Given the description of an element on the screen output the (x, y) to click on. 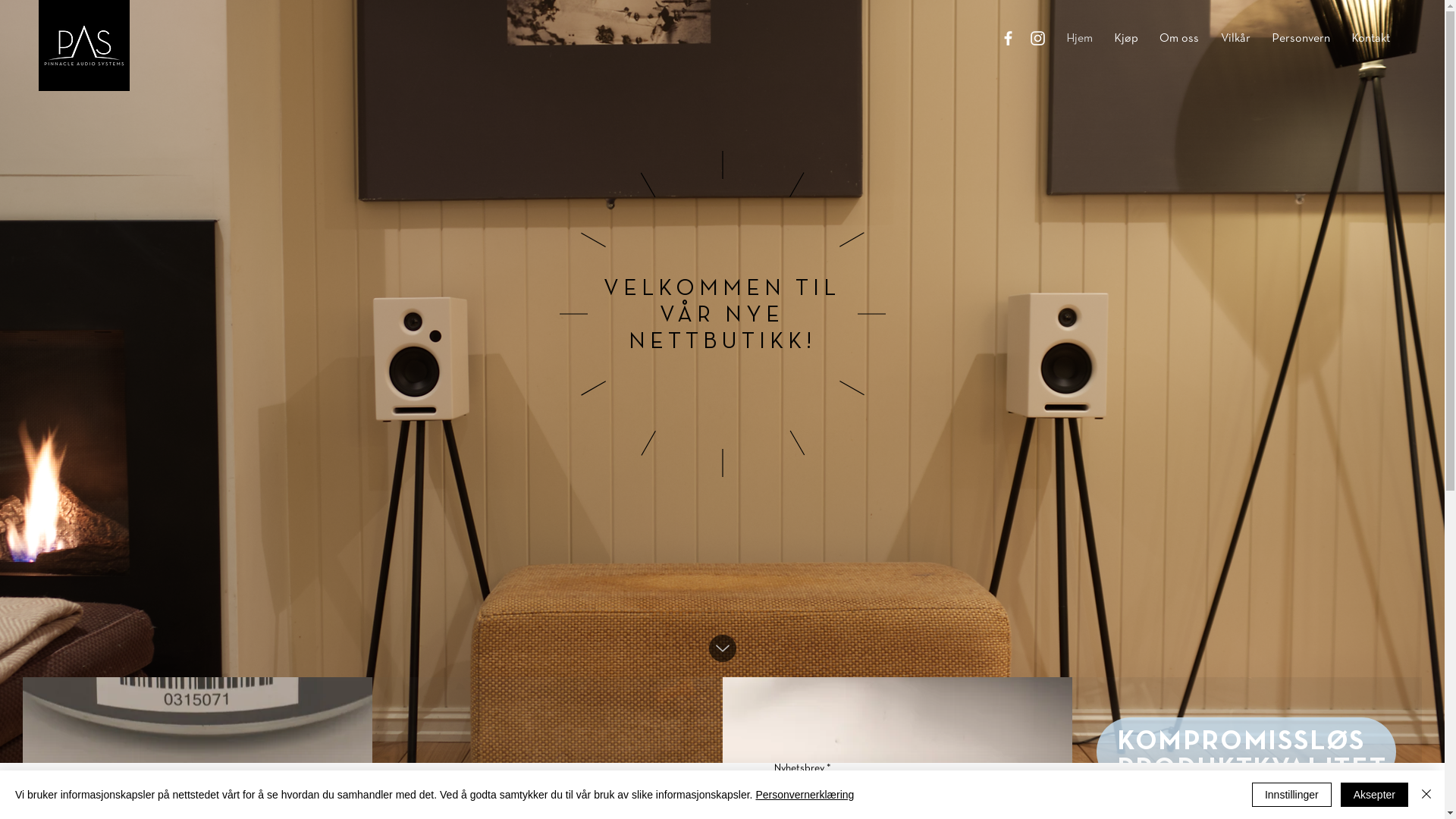
Om oss Element type: text (1178, 38)
Kontakt Element type: text (1370, 38)
Aksepter Element type: text (1374, 794)
Hjem Element type: text (1079, 38)
Personvern Element type: text (1300, 38)
Innstillinger Element type: text (1291, 794)
